Given the description of an element on the screen output the (x, y) to click on. 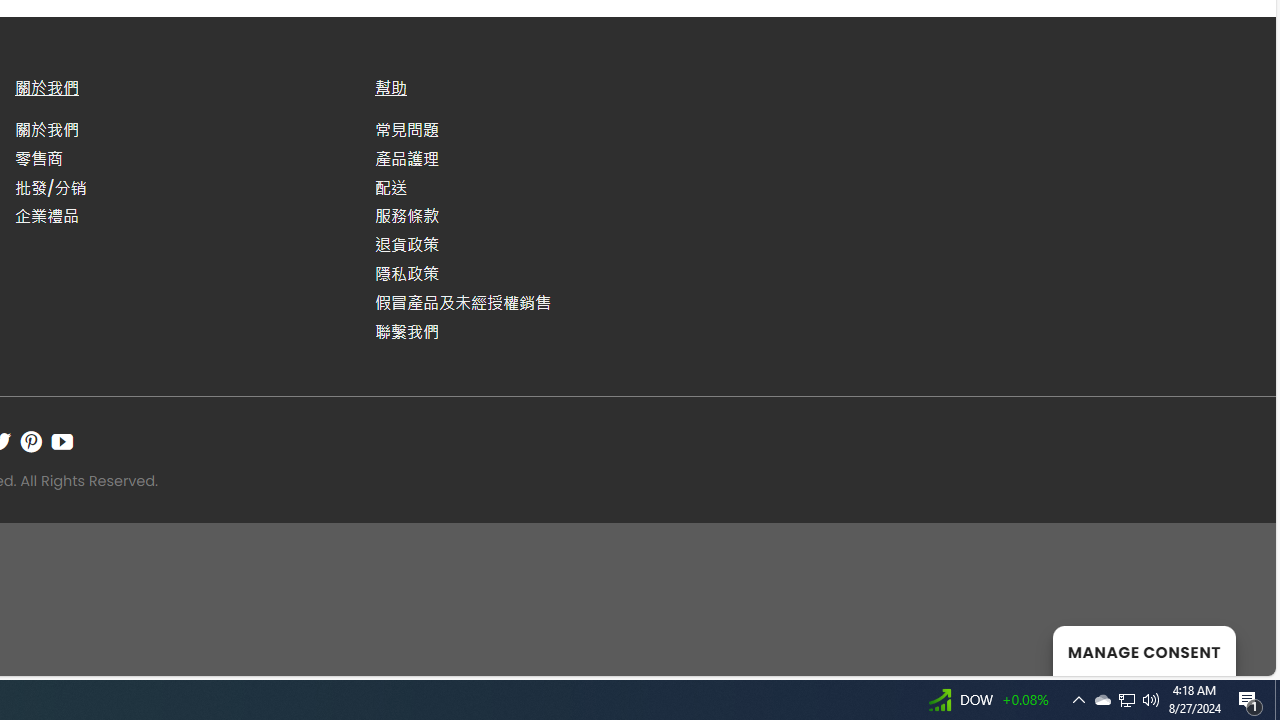
Follow on Pinterest (31, 441)
Follow on YouTube (61, 441)
